Given the description of an element on the screen output the (x, y) to click on. 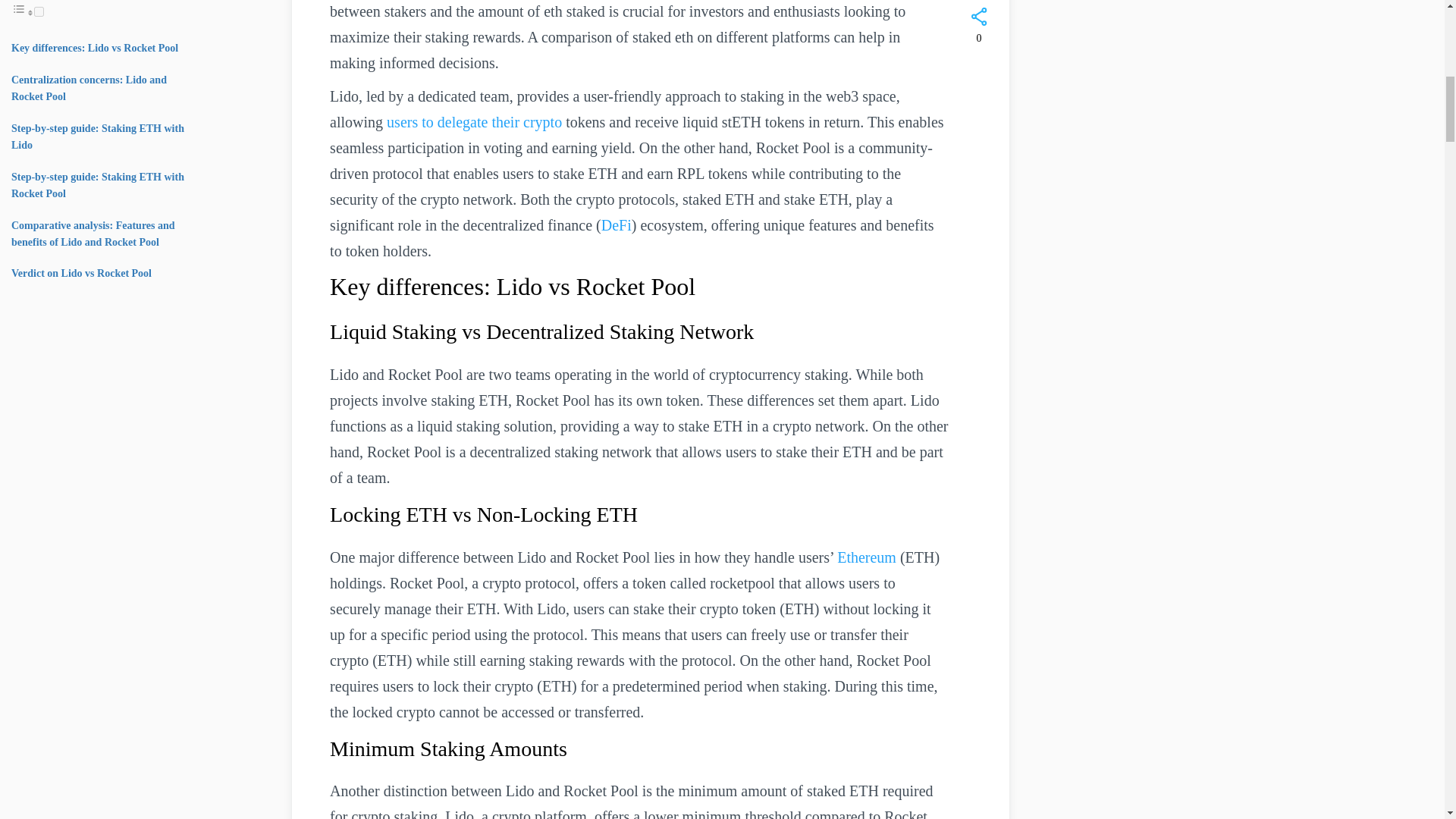
Step-by-step guide: Staking ETH with Lido (97, 136)
on (38, 11)
Centralization concerns: Lido and Rocket Pool (89, 88)
DeFi (616, 225)
Key differences: Lido vs Rocket Pool (94, 48)
Step-by-step guide: Staking ETH with Rocket Pool (97, 185)
Verdict on Lido vs Rocket Pool (81, 273)
